Given the description of an element on the screen output the (x, y) to click on. 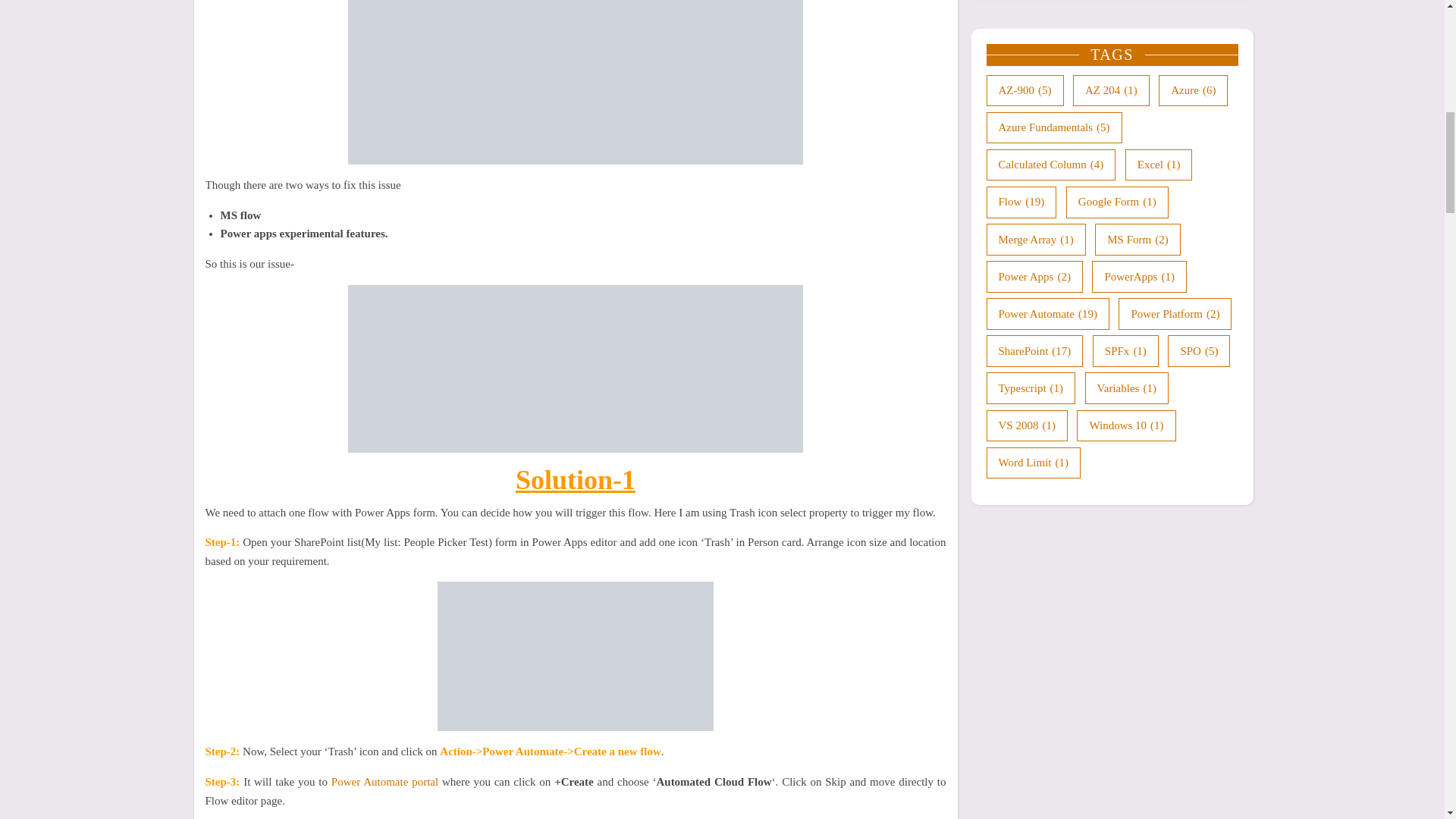
Power Automate portal (384, 781)
